Given the description of an element on the screen output the (x, y) to click on. 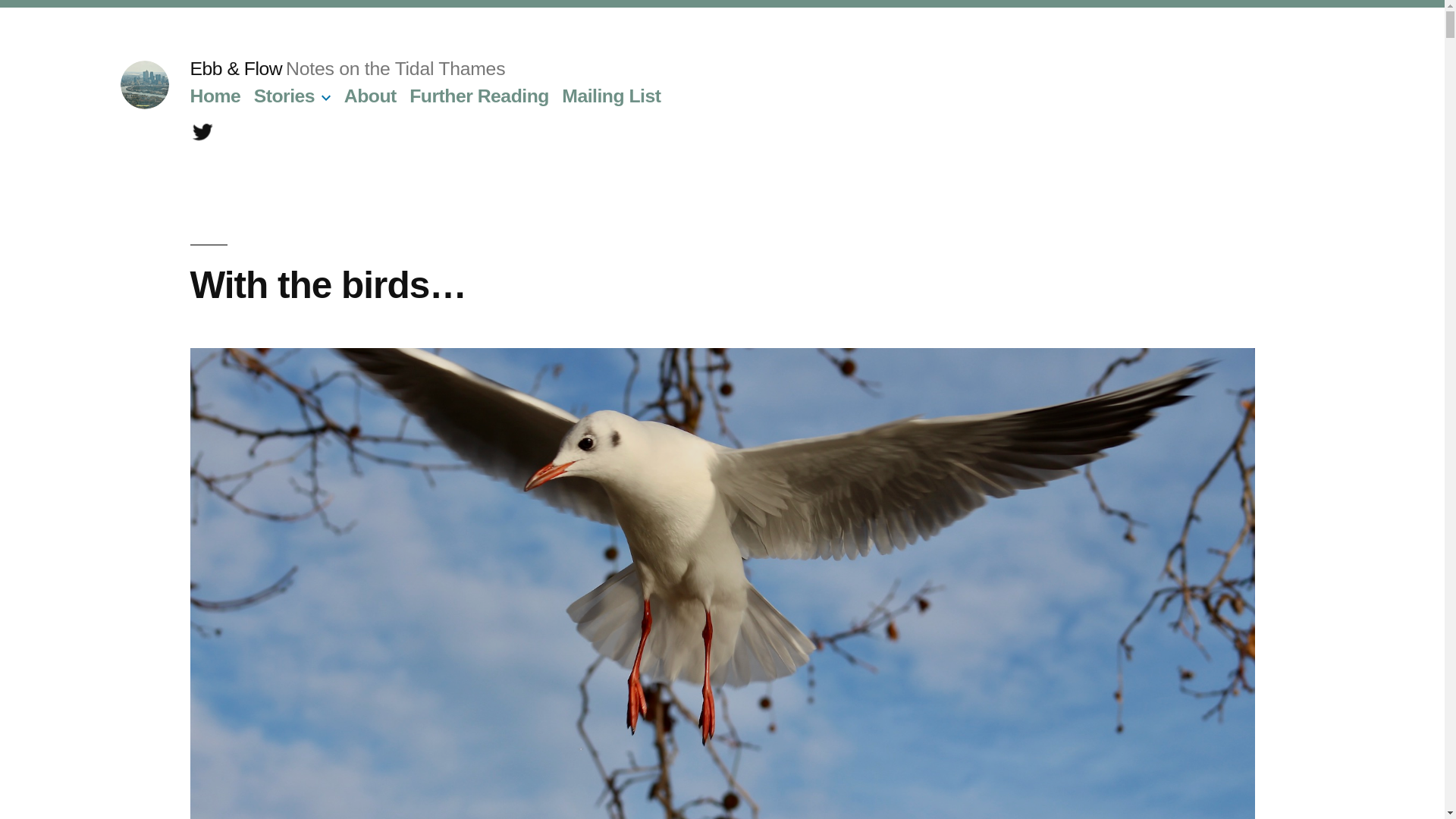
twitter (201, 131)
Stories (283, 95)
Further Reading (478, 95)
Mailing List (611, 95)
About (369, 95)
Home (214, 95)
